Given the description of an element on the screen output the (x, y) to click on. 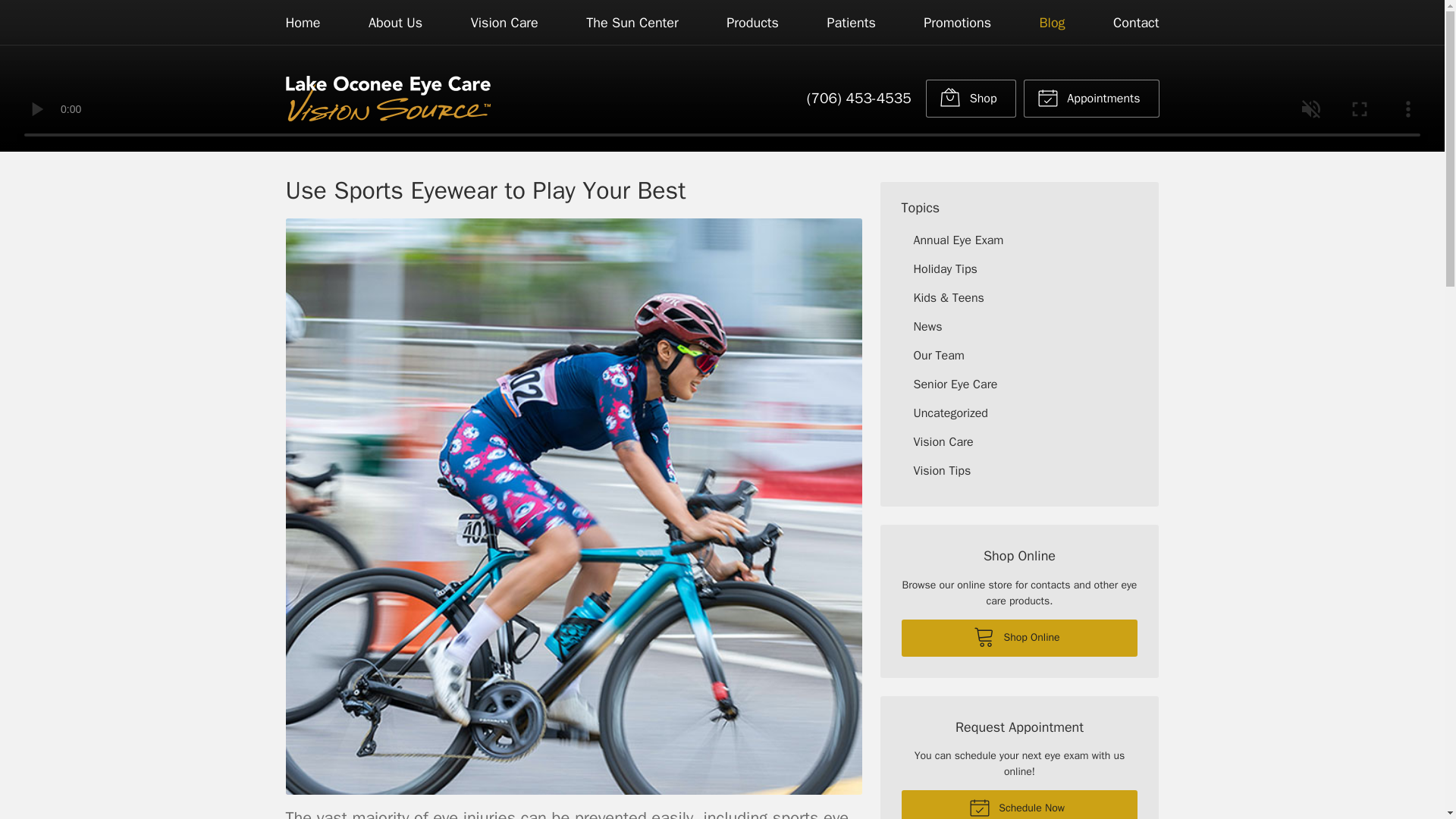
Lake Oconee Eye Care (387, 98)
Products (752, 22)
Home (302, 22)
About Us (395, 22)
Call practice (858, 98)
The Sun Center (632, 22)
Shop Online (1019, 637)
Schedule Now (1019, 804)
Shop Online (971, 98)
Request Appointment (1090, 98)
Vision Care (504, 22)
